Given the description of an element on the screen output the (x, y) to click on. 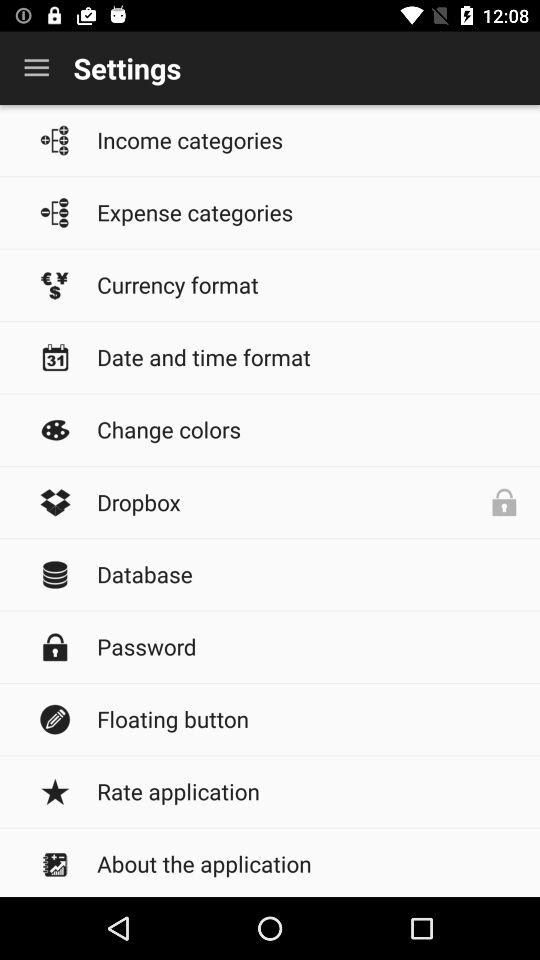
select item below the currency format icon (308, 356)
